Given the description of an element on the screen output the (x, y) to click on. 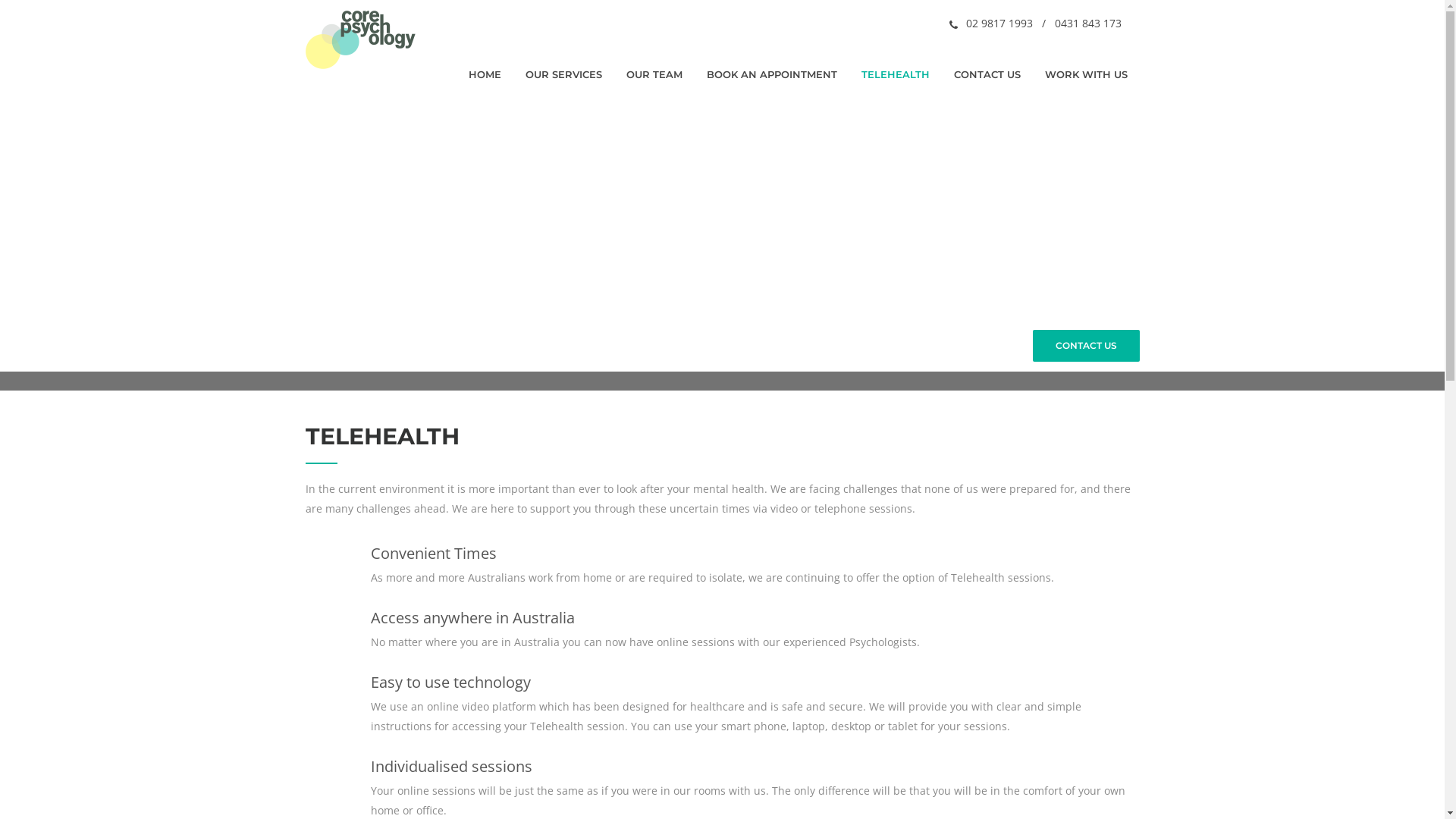
OUR SERVICES Element type: text (562, 75)
OUR TEAM Element type: text (654, 75)
WORK WITH US Element type: text (1085, 75)
0431 843 173 Element type: text (1087, 22)
TELEHEALTH Element type: text (895, 75)
CONTACT US Element type: text (1085, 345)
CONTACT US Element type: text (986, 75)
02 9817 1993 Element type: text (999, 22)
HOME Element type: text (484, 75)
BOOK AN APPOINTMENT Element type: text (771, 75)
